Given the description of an element on the screen output the (x, y) to click on. 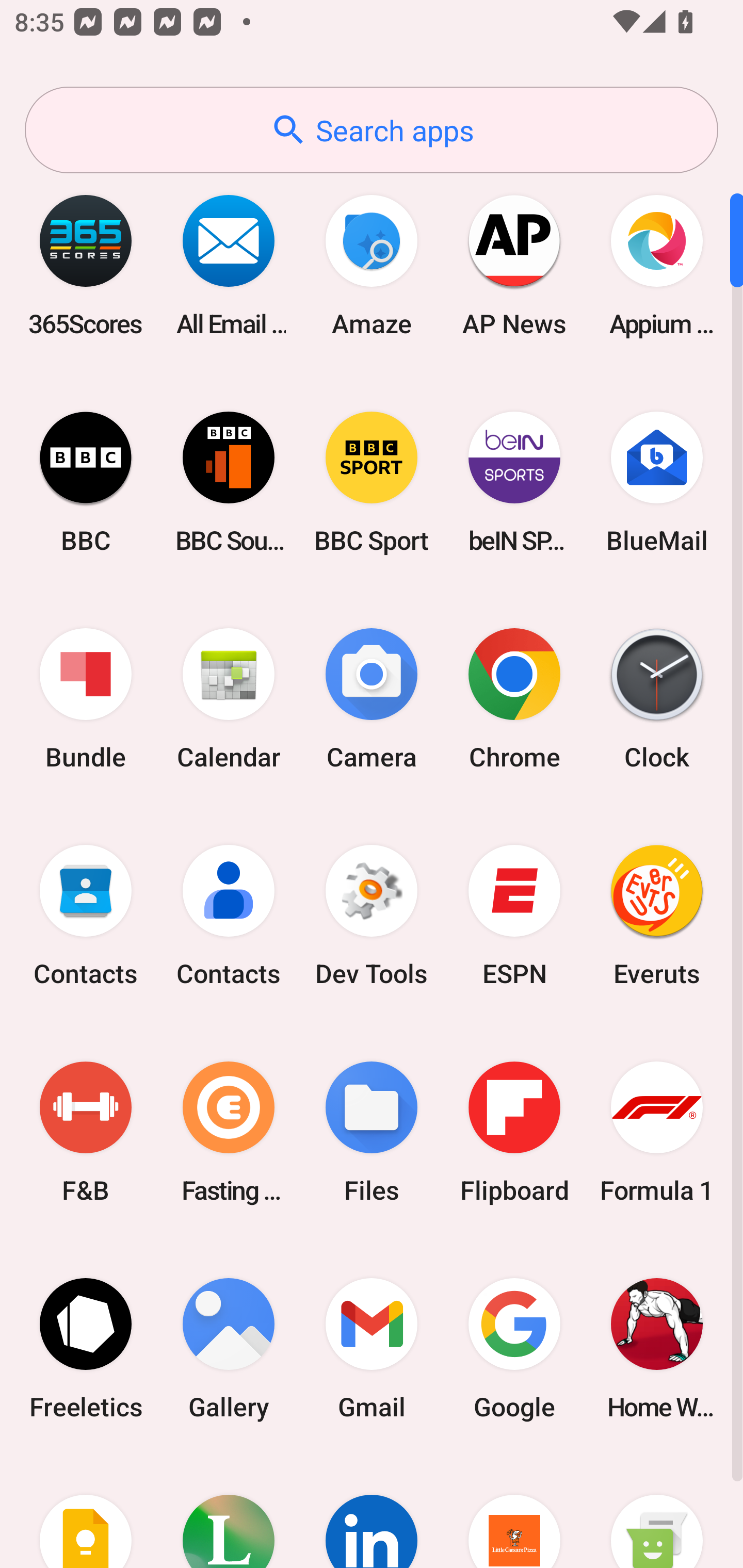
  Search apps (371, 130)
365Scores (85, 264)
All Email Connect (228, 264)
Amaze (371, 264)
AP News (514, 264)
Appium Settings (656, 264)
BBC (85, 482)
BBC Sounds (228, 482)
BBC Sport (371, 482)
beIN SPORTS (514, 482)
BlueMail (656, 482)
Bundle (85, 699)
Calendar (228, 699)
Camera (371, 699)
Chrome (514, 699)
Clock (656, 699)
Contacts (85, 915)
Contacts (228, 915)
Dev Tools (371, 915)
ESPN (514, 915)
Everuts (656, 915)
F&B (85, 1131)
Fasting Coach (228, 1131)
Files (371, 1131)
Flipboard (514, 1131)
Formula 1 (656, 1131)
Freeletics (85, 1348)
Gallery (228, 1348)
Gmail (371, 1348)
Google (514, 1348)
Home Workout (656, 1348)
Keep Notes (85, 1512)
Lifesum (228, 1512)
LinkedIn (371, 1512)
Little Caesars Pizza (514, 1512)
Messaging (656, 1512)
